Given the description of an element on the screen output the (x, y) to click on. 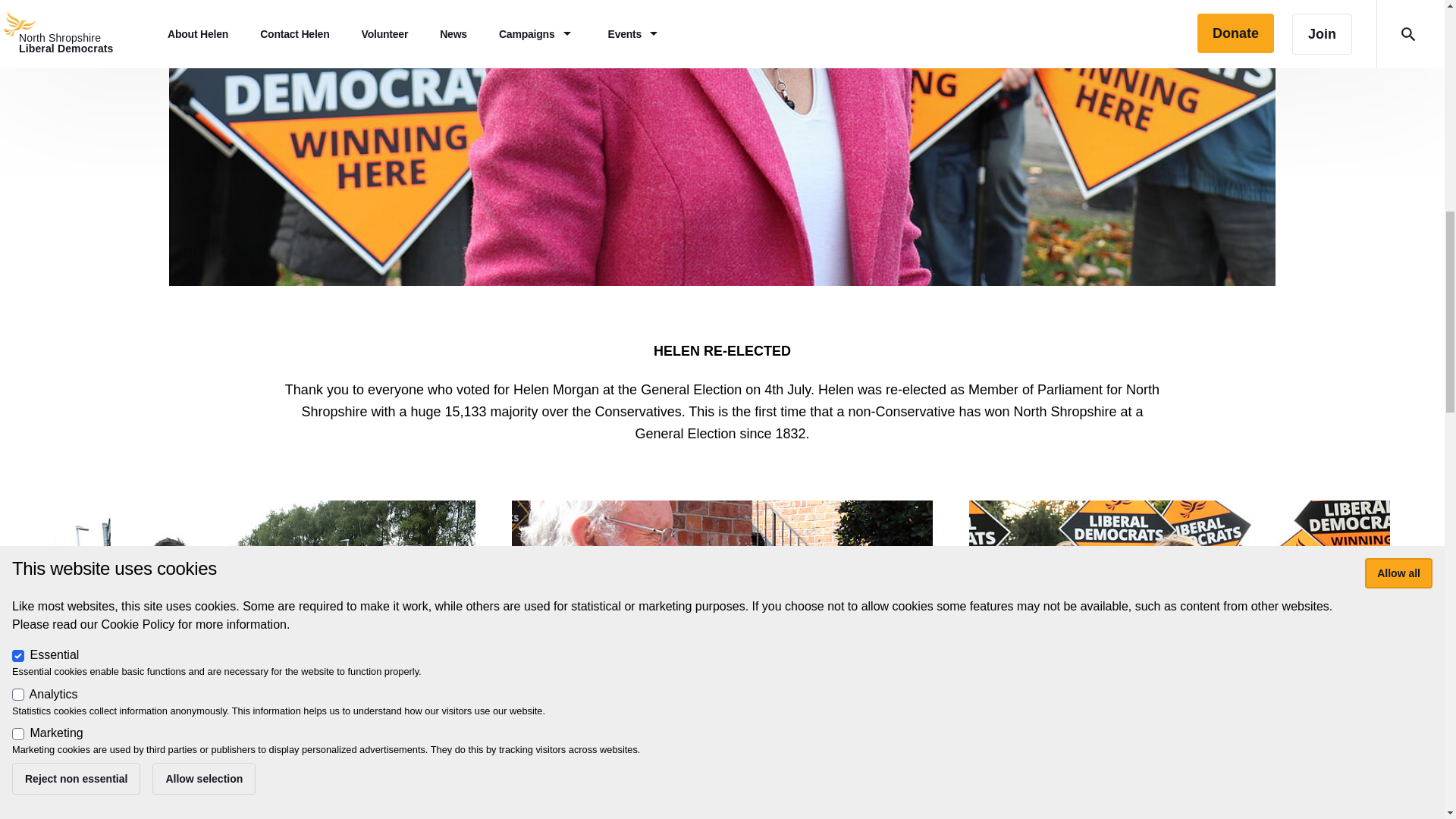
News (265, 618)
Sign up to Helen's Weekly Email Updates (722, 784)
View (722, 654)
Weekly Updates (722, 618)
Volunteer (1179, 618)
Join Helen's Team (1179, 784)
View (1179, 654)
View (265, 654)
See the latest News from Helen (264, 784)
